Given the description of an element on the screen output the (x, y) to click on. 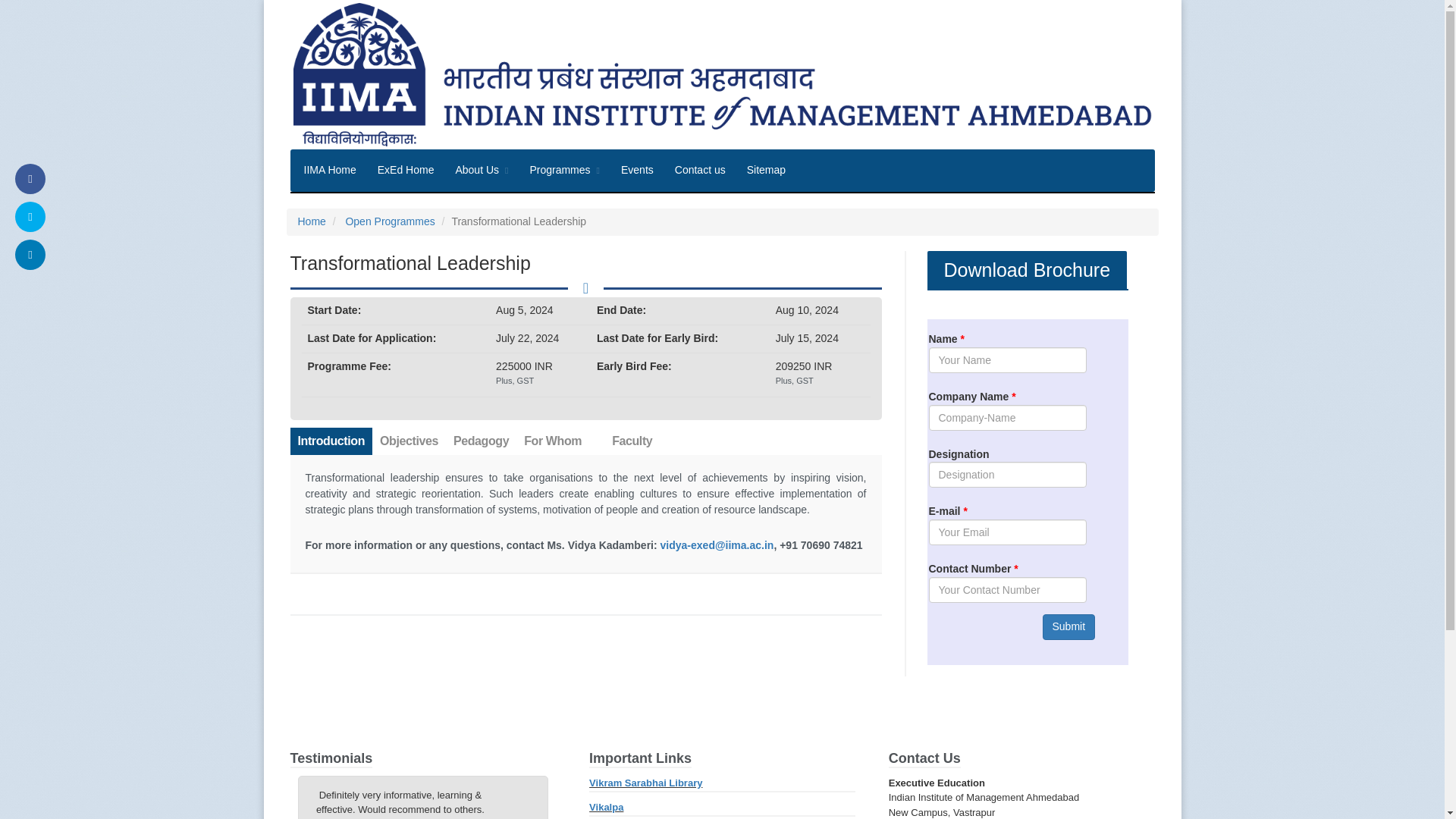
Open Programmes (388, 221)
Contact us (699, 170)
Programmes (564, 170)
Vikalpa (606, 806)
Sitemap (766, 170)
Vikram Sarabhai Library (645, 782)
Pedagogy (480, 441)
Events (636, 170)
Home (310, 221)
Introduction (330, 441)
